Given the description of an element on the screen output the (x, y) to click on. 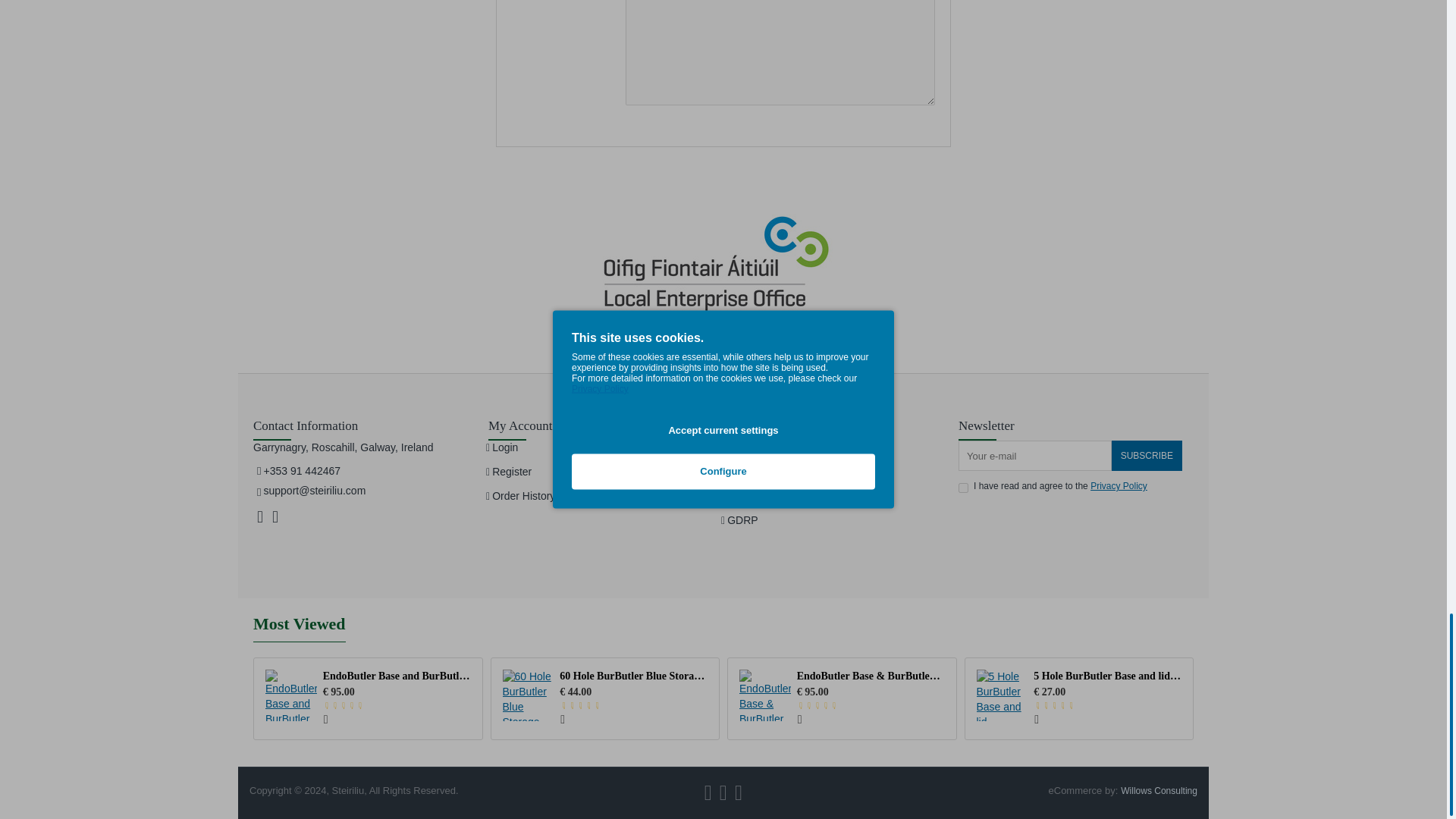
60 Hole BurButler Blue Storage Base and Lid (527, 695)
5 Hole BurButler Base and lid Amethyst Purple (1001, 695)
check (963, 488)
